Given the description of an element on the screen output the (x, y) to click on. 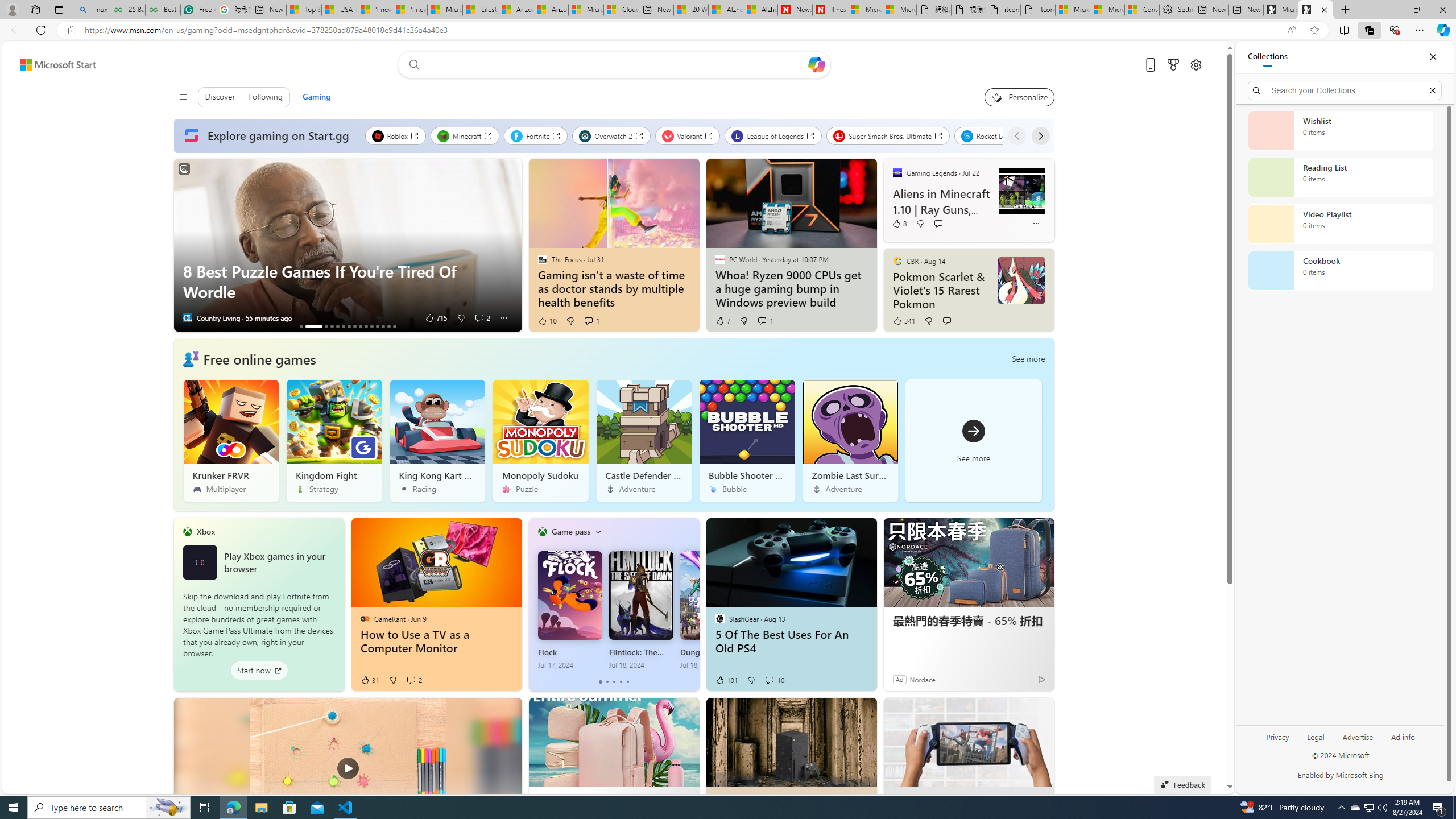
Flock Jul 17, 2024 (569, 610)
5 Of The Best Uses For An Old PS4 (790, 641)
Castle Defender Saga (643, 440)
Free AI Writing Assistance for Students | Grammarly (198, 9)
CBR (897, 260)
Kingdom Fight (333, 440)
